Given the description of an element on the screen output the (x, y) to click on. 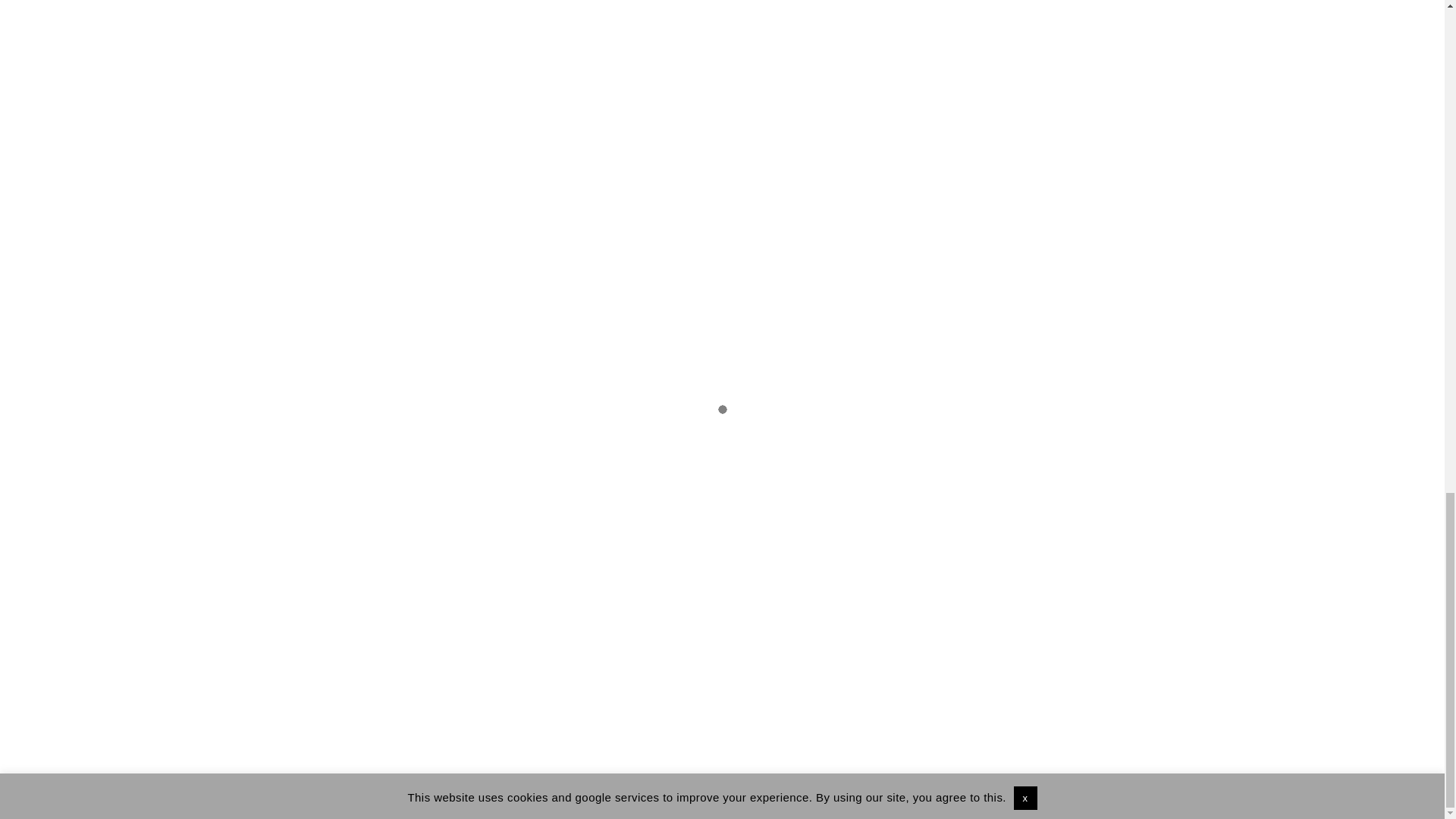
GAMING TRENDS THAT EMERGED IN 2018 (1011, 563)
FREE TO PLAY GAMES OF 2018 (497, 563)
logged in (481, 358)
